Given the description of an element on the screen output the (x, y) to click on. 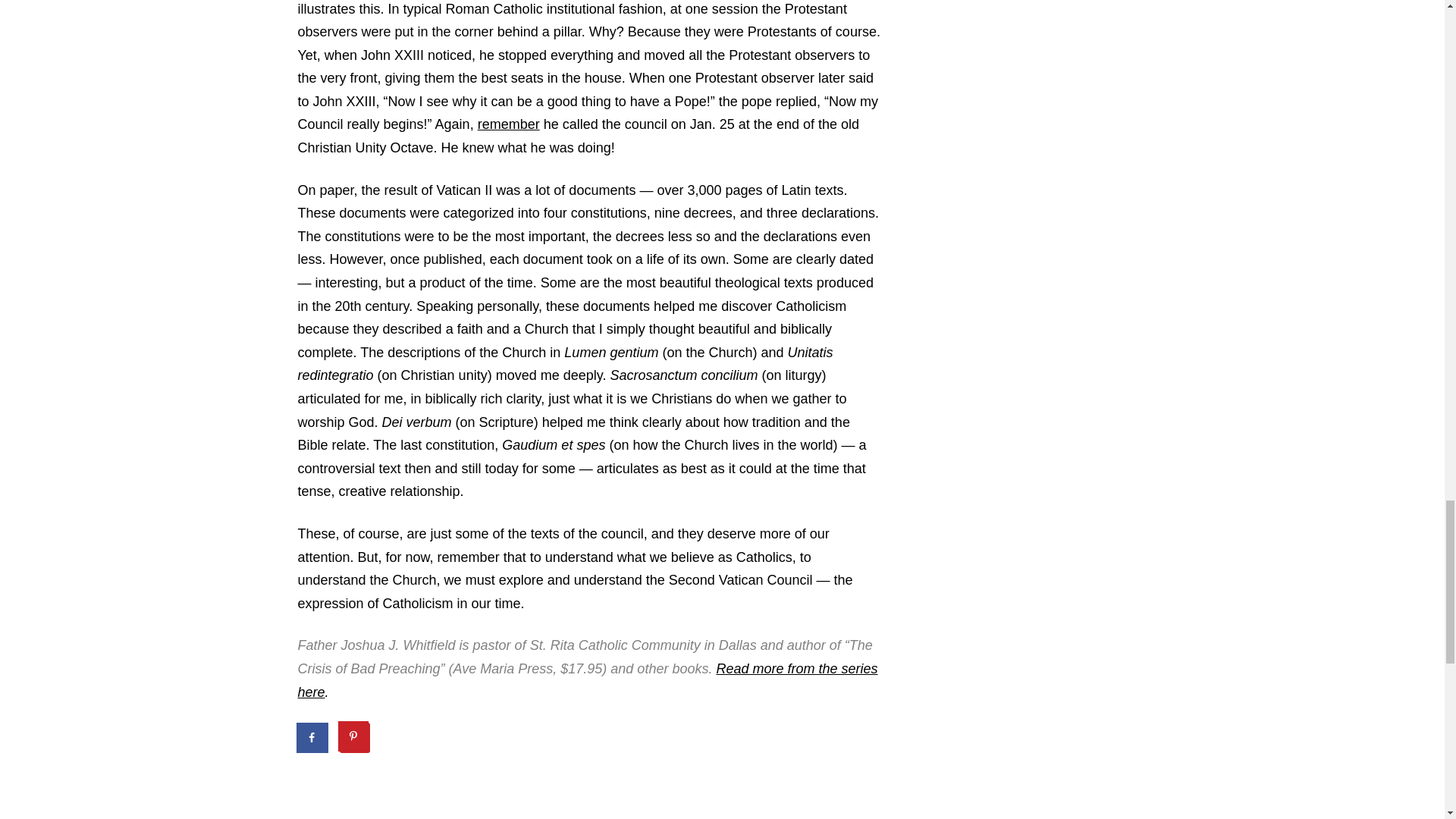
Read more from the series here (587, 680)
SCRIPTURE (467, 785)
CHURCH HISTORY (355, 785)
remember (508, 124)
WHAT WE BELIEVE SERIES (689, 785)
VATICAN II (557, 785)
Share on Facebook (312, 737)
Save to Pinterest (354, 737)
